Given the description of an element on the screen output the (x, y) to click on. 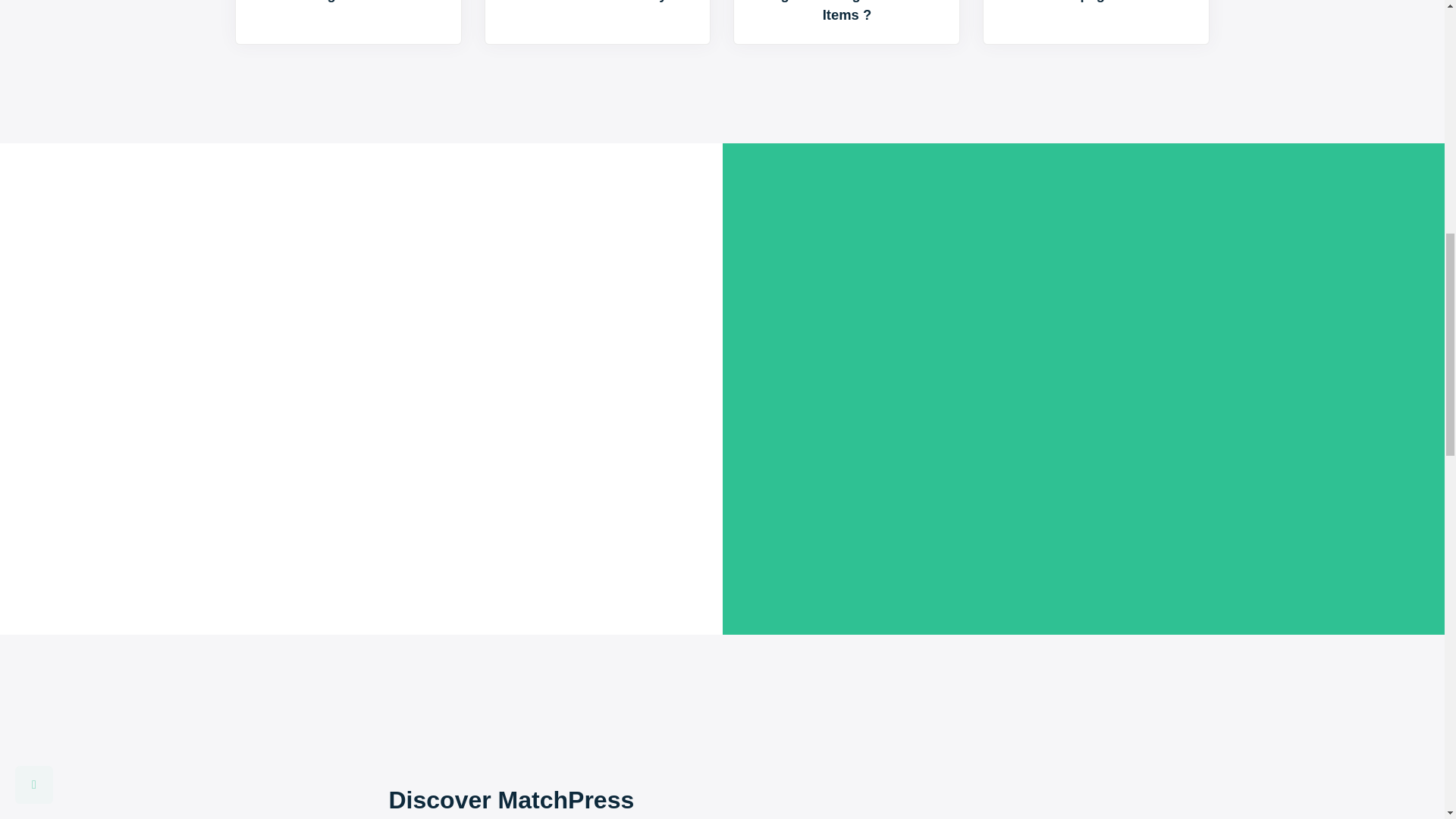
How to Change the Default Login and Register Menu Items ? (846, 22)
How to Hide Member Pages for Non-registered Users ? (347, 22)
How to Hide Admin Users in the Members Directory ? (597, 22)
